Given the description of an element on the screen output the (x, y) to click on. 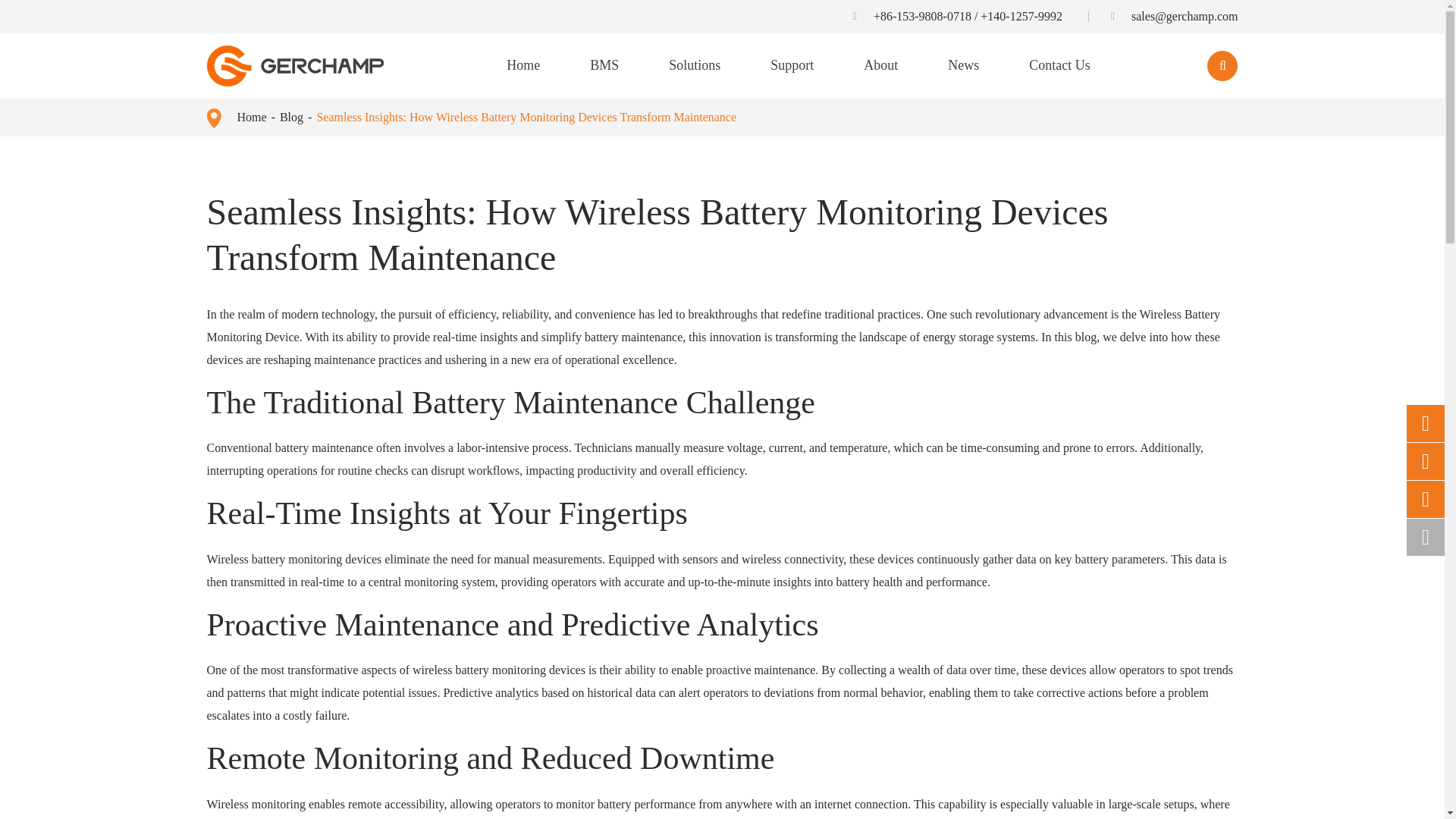
Blog (290, 116)
Contact Us (1059, 65)
